Given the description of an element on the screen output the (x, y) to click on. 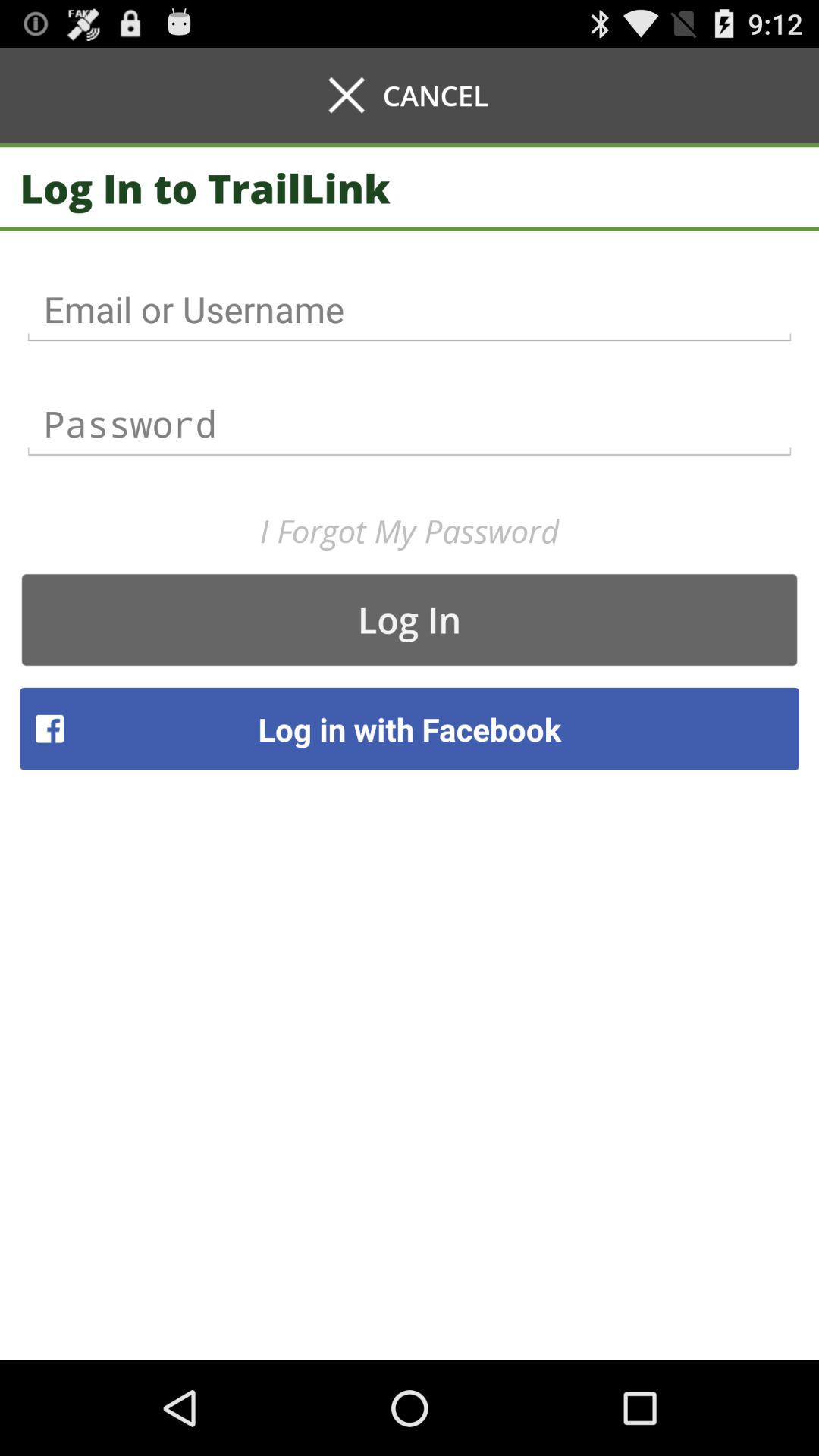
jump until the i forgot my icon (409, 530)
